Given the description of an element on the screen output the (x, y) to click on. 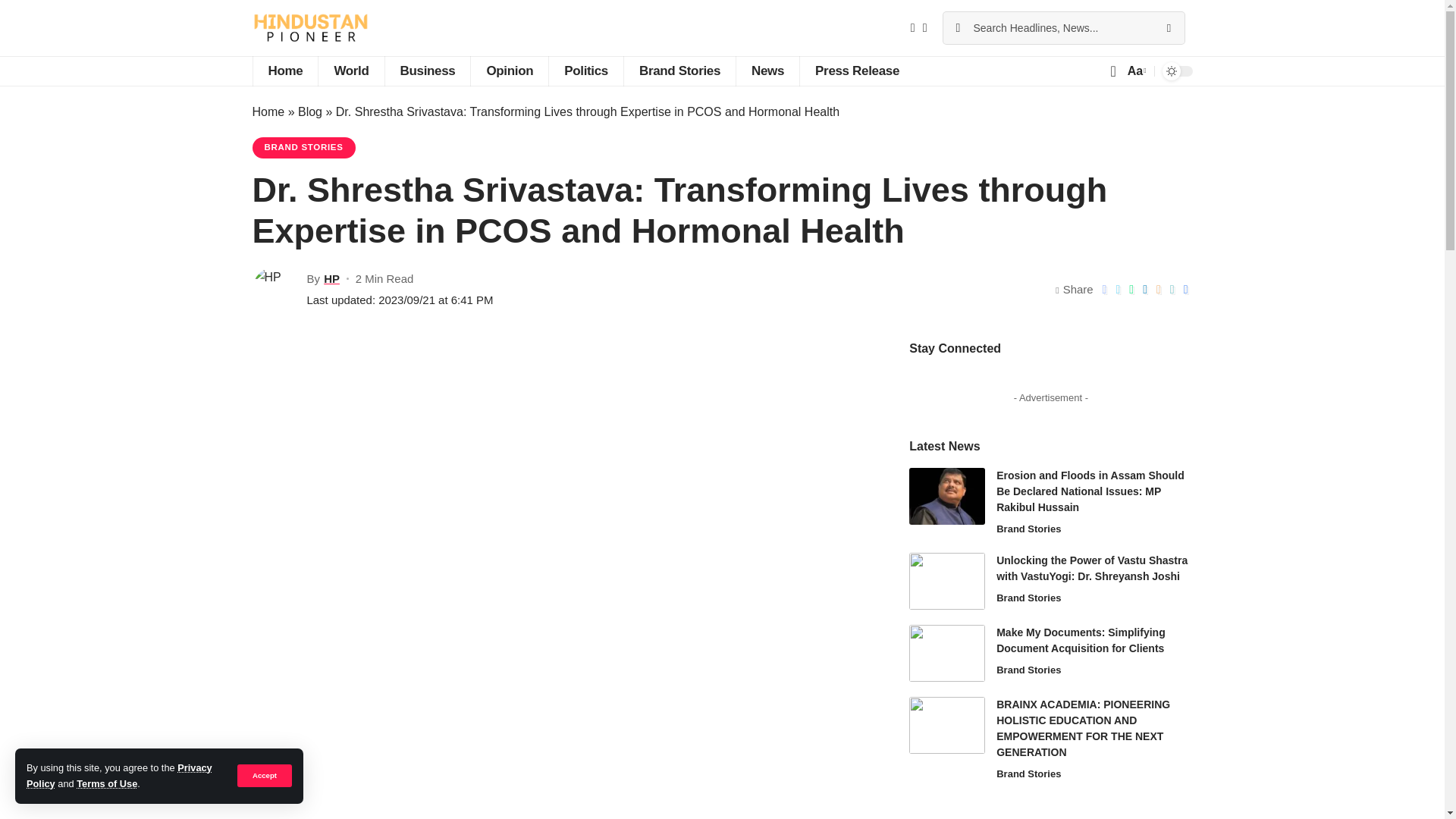
News (767, 71)
Hindustan Pioneer (309, 28)
Press Release (856, 71)
Terms of Use (106, 783)
Politics (585, 71)
Home (284, 71)
Search (1168, 28)
Accept (264, 775)
World (350, 71)
Privacy Policy (119, 775)
Opinion (509, 71)
